Given the description of an element on the screen output the (x, y) to click on. 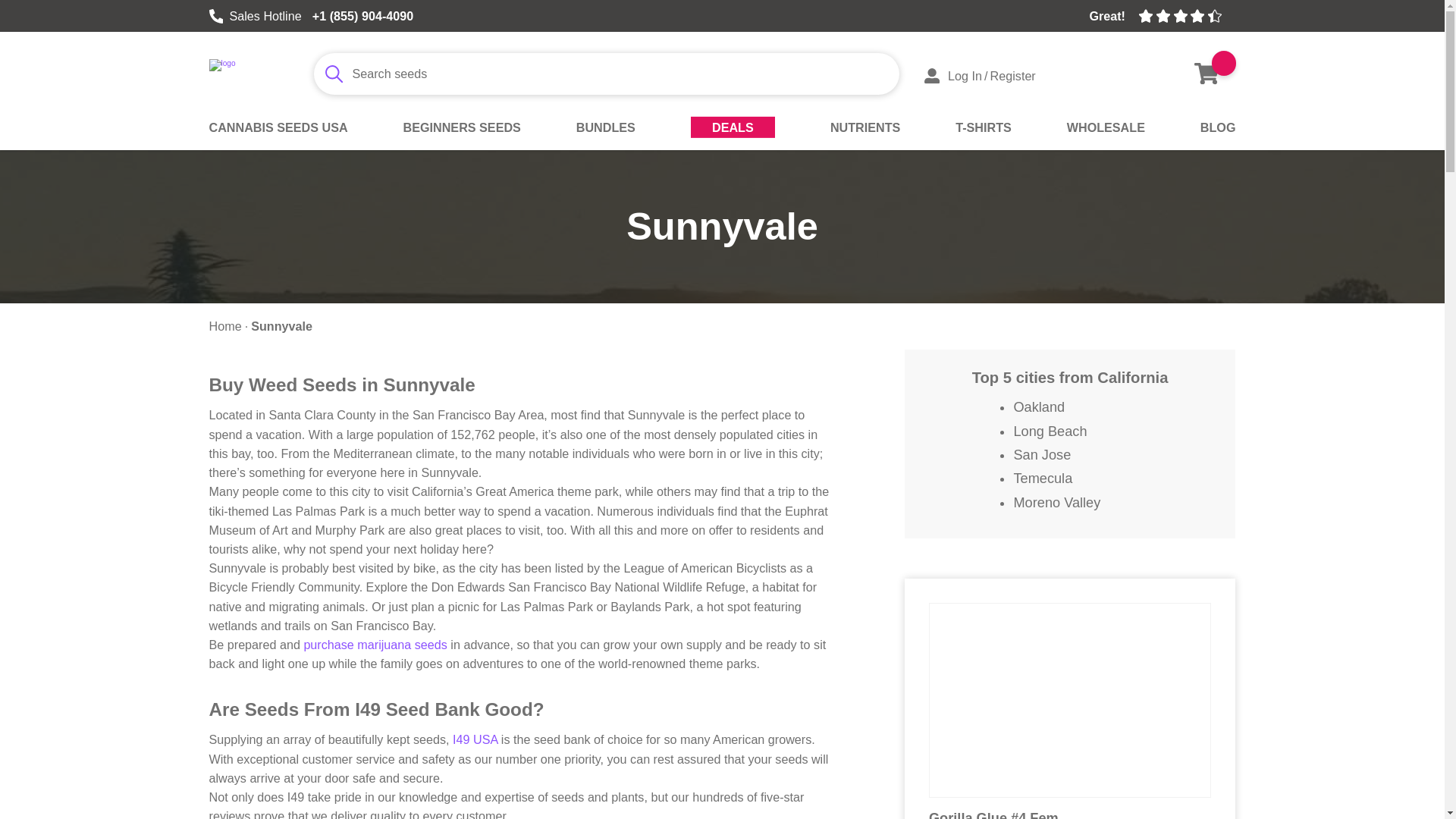
Go to Home Page (225, 325)
Register (1012, 75)
Log In (952, 75)
I49 Seed Bank (242, 76)
CANNABIS SEEDS USA (278, 134)
